Given the description of an element on the screen output the (x, y) to click on. 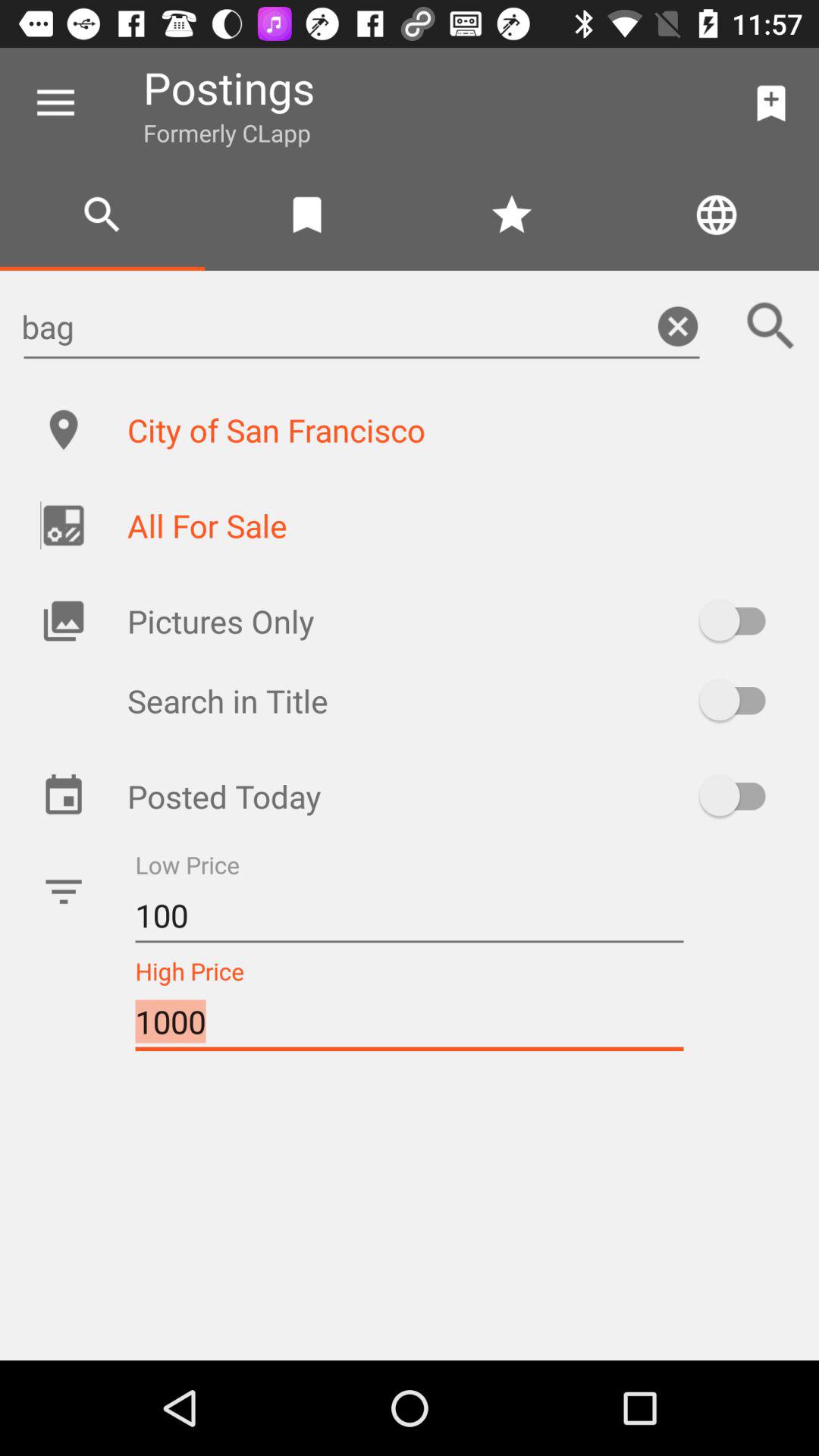
toggle search in title (739, 700)
